Given the description of an element on the screen output the (x, y) to click on. 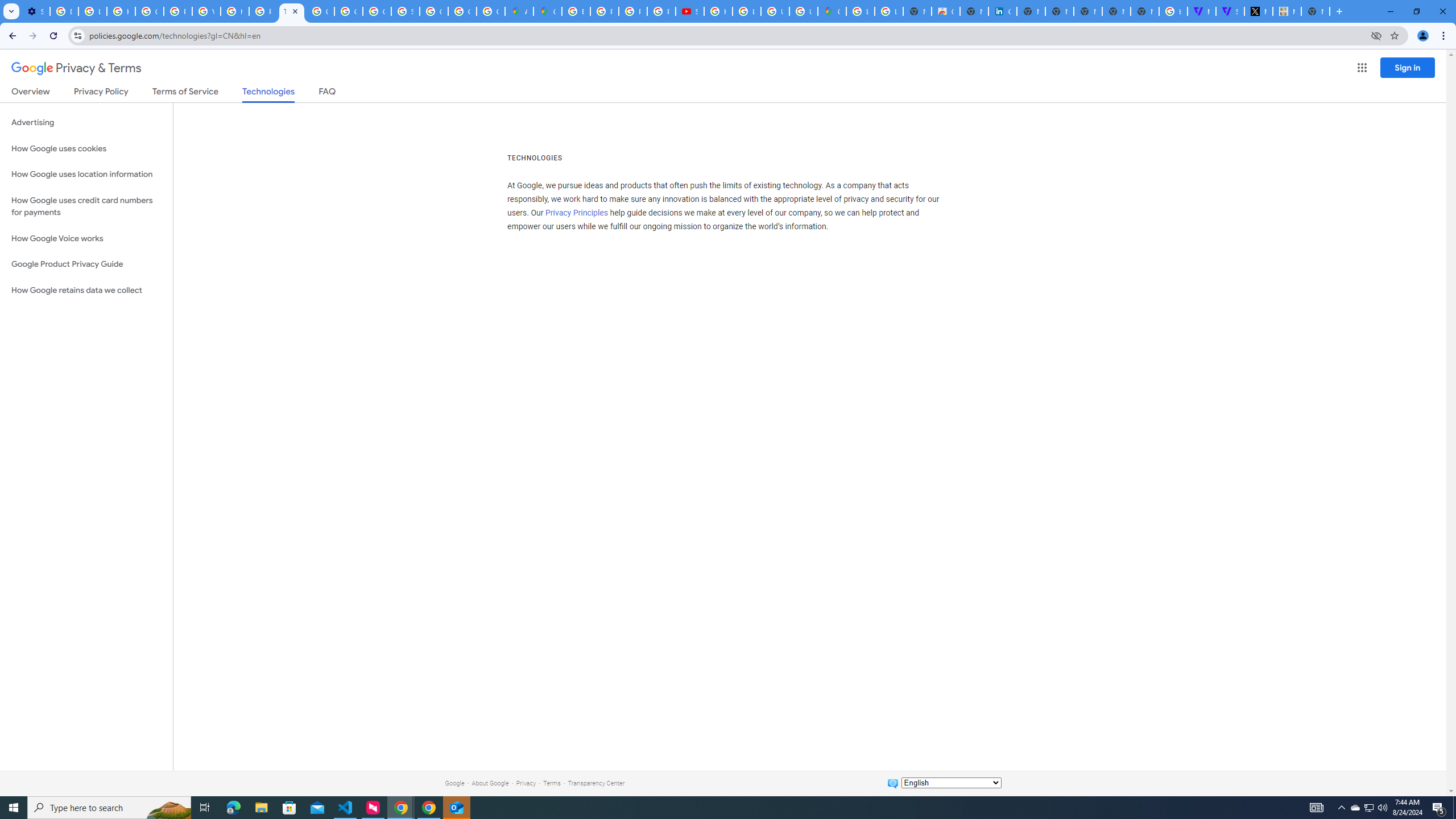
Cookie Policy | LinkedIn (1002, 11)
YouTube (206, 11)
Google (454, 783)
Sign in - Google Accounts (405, 11)
MILEY CYRUS. (1287, 11)
How Google Voice works (86, 238)
https://scholar.google.com/ (234, 11)
How Google uses location information (86, 174)
Delete photos & videos - Computer - Google Photos Help (63, 11)
